Given the description of an element on the screen output the (x, y) to click on. 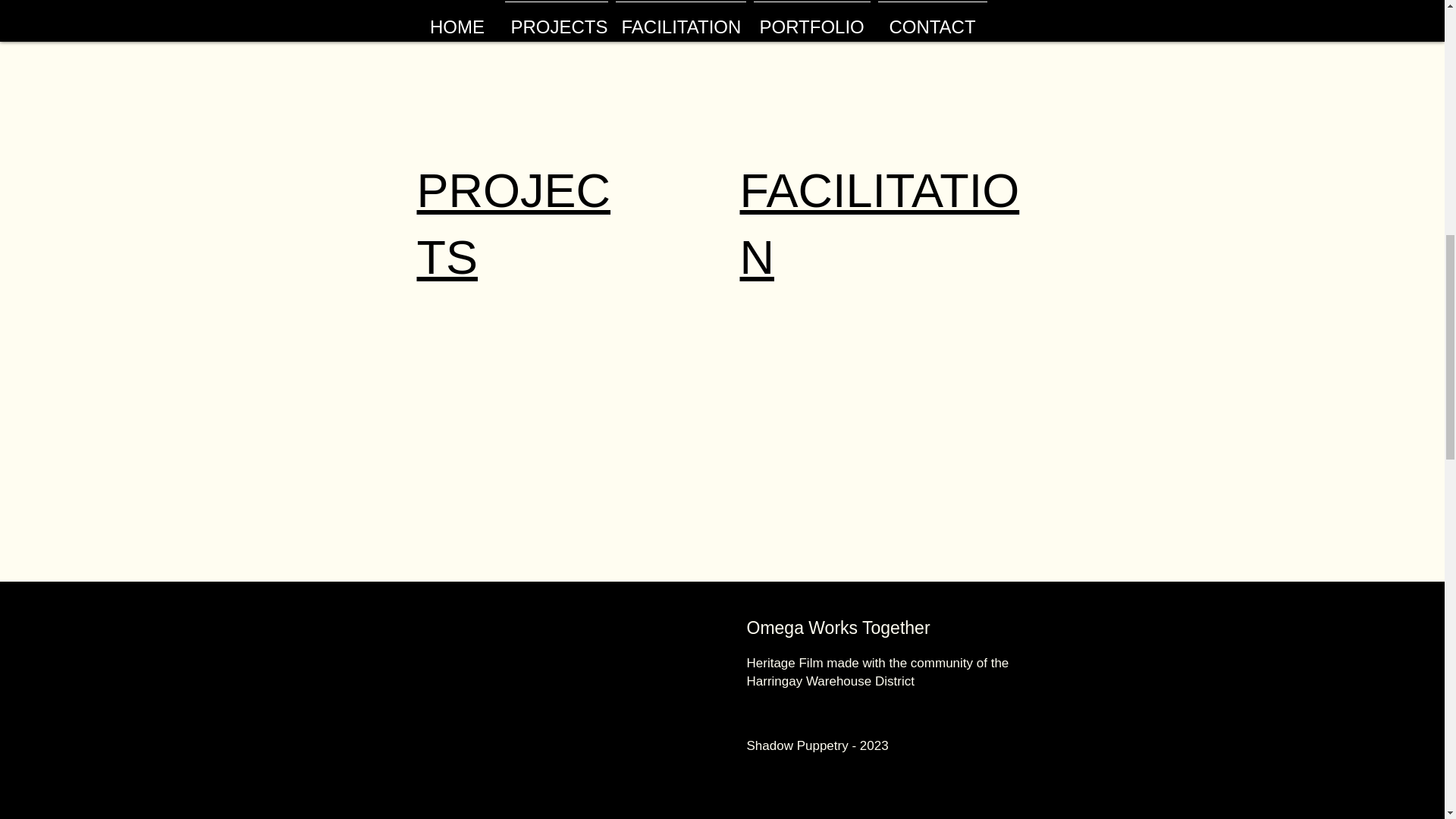
FACILITATION (879, 223)
PROJECTS (513, 223)
